Given the description of an element on the screen output the (x, y) to click on. 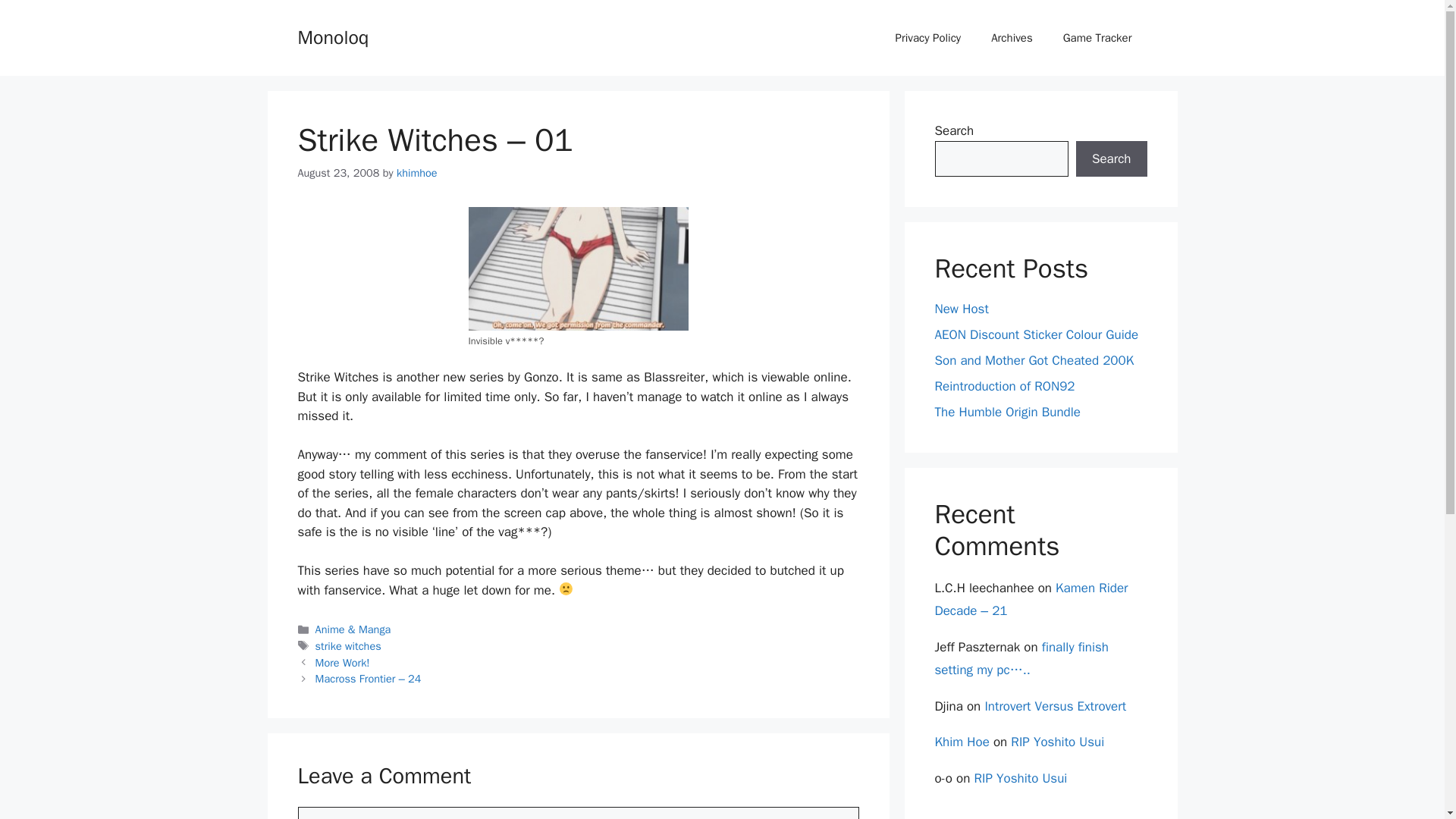
RIP Yoshito Usui (1056, 741)
strike witches (348, 645)
Archives (1011, 37)
More Work! (342, 662)
The Humble Origin Bundle (1007, 412)
View all posts by khimhoe (417, 172)
Introvert Versus Extrovert (1054, 706)
New Host (961, 308)
Khim Hoe (961, 741)
Search (1111, 158)
AEON Discount Sticker Colour Guide (1036, 334)
Game Tracker (1097, 37)
khimhoe (417, 172)
Monoloq (332, 37)
Son and Mother Got Cheated 200K (1034, 360)
